Given the description of an element on the screen output the (x, y) to click on. 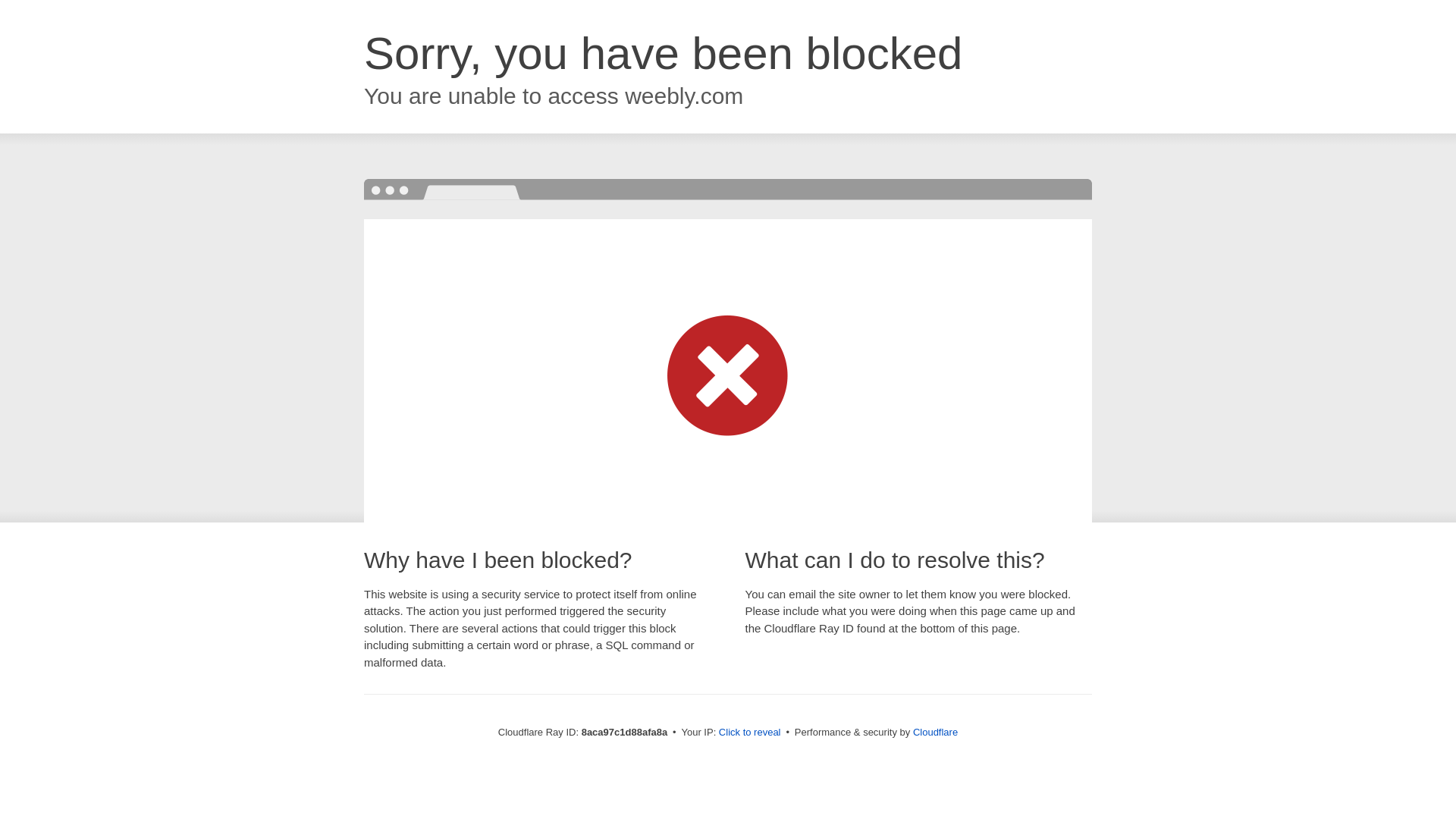
Cloudflare (935, 731)
Click to reveal (749, 732)
